Given the description of an element on the screen output the (x, y) to click on. 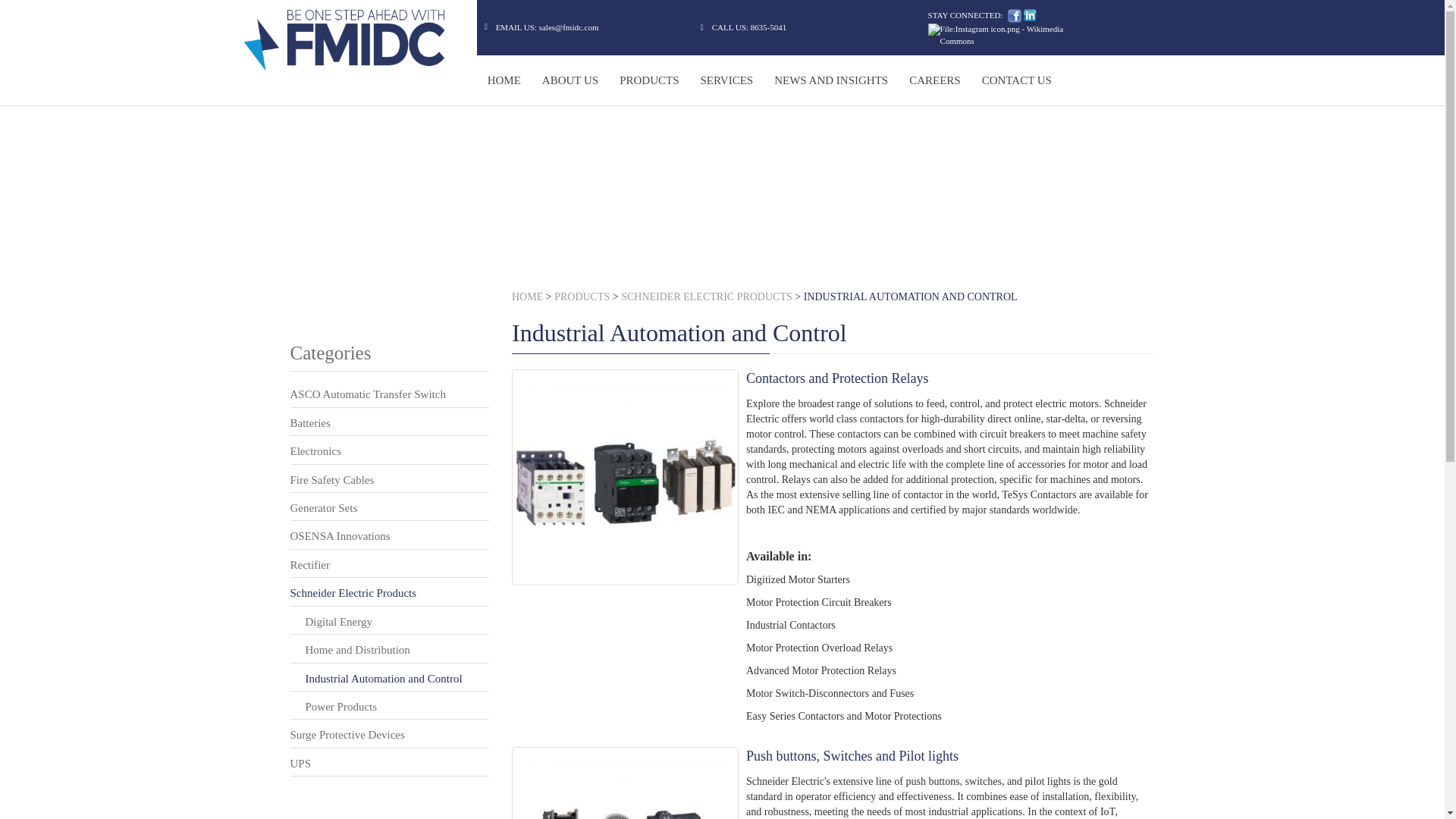
PRODUCTS (648, 80)
Electronics (314, 451)
OSENSA Innovations (339, 535)
Generator Sets (322, 508)
Home (349, 39)
ASCO Automatic Transfer Switch (367, 394)
Fire Safety Cables (331, 480)
CONTACT US (1016, 80)
Rectifier (309, 564)
CAREERS (934, 80)
